Given the description of an element on the screen output the (x, y) to click on. 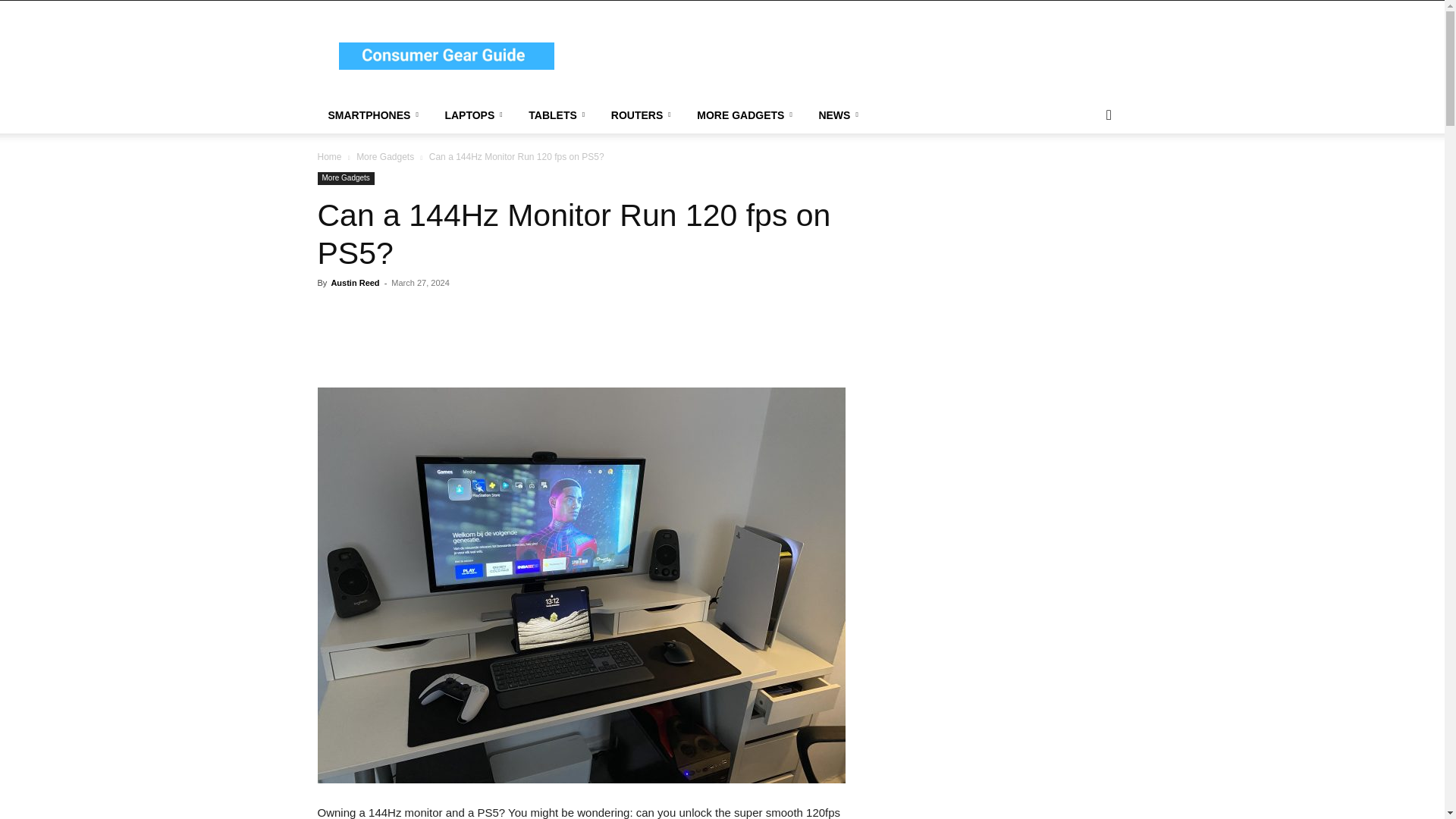
LAPTOPS (475, 115)
TABLETS (558, 115)
SMARTPHONES (375, 115)
